Given the description of an element on the screen output the (x, y) to click on. 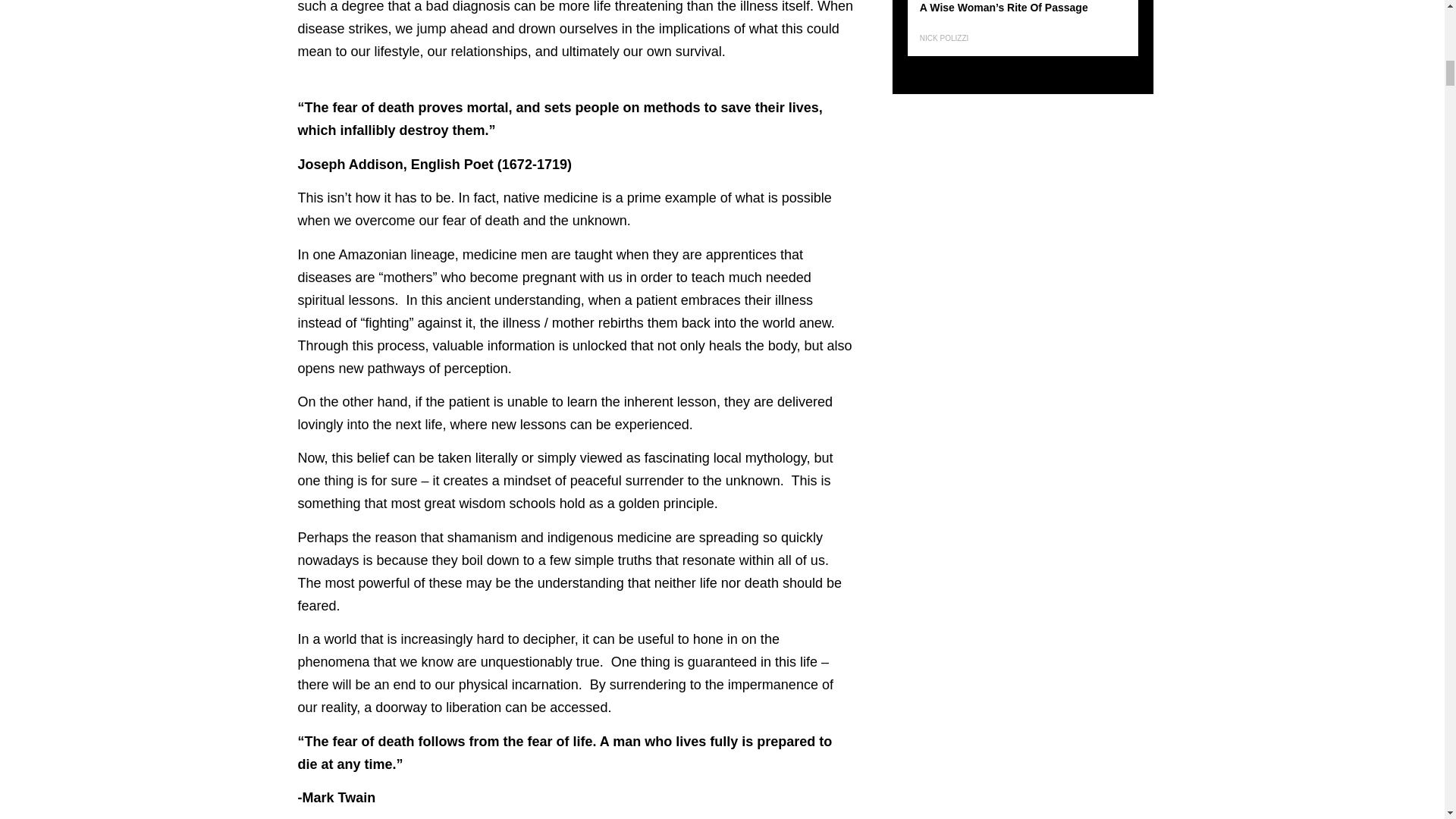
Download Our Free eBook! (562, 84)
